Given the description of an element on the screen output the (x, y) to click on. 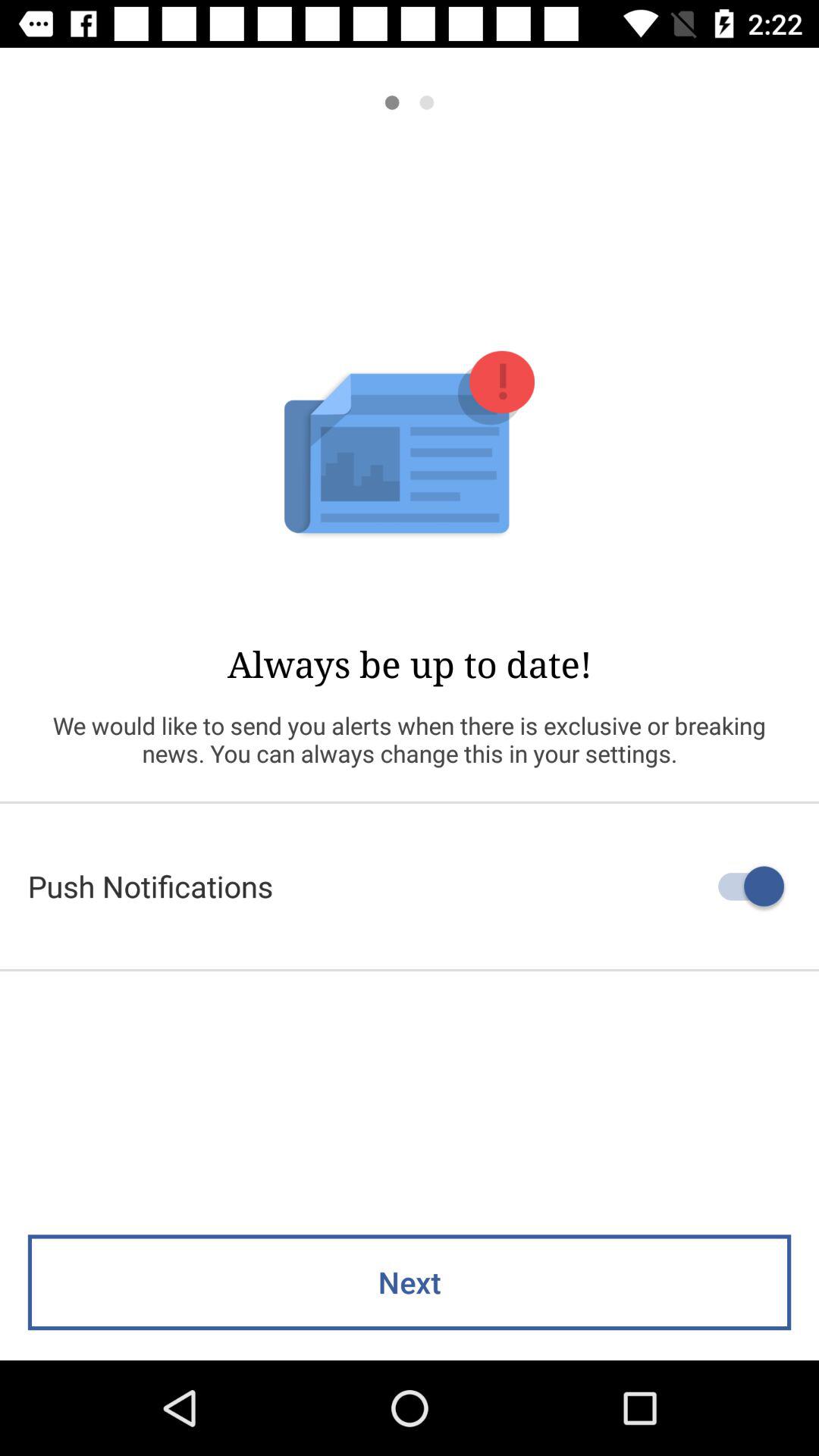
swipe until the push notifications (409, 886)
